Given the description of an element on the screen output the (x, y) to click on. 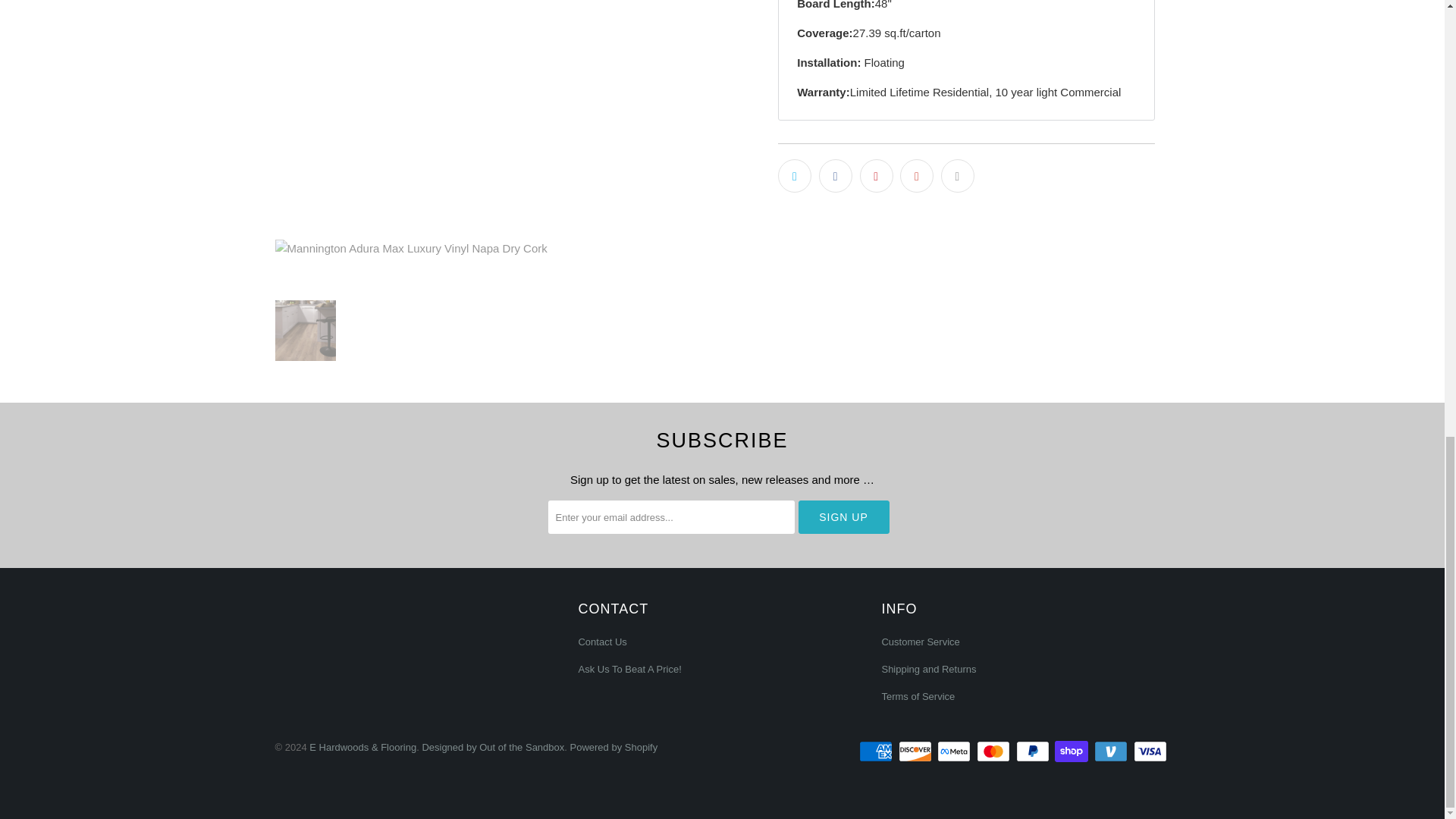
Share this on Facebook (834, 175)
Share this on Pinterest (876, 175)
Turbo Shopify Theme by Out of the Sandbox (493, 747)
Meta Pay (955, 751)
Shop Pay (1072, 751)
Sign Up (842, 516)
Venmo (1112, 751)
PayPal (1034, 751)
Email this to a friend (957, 175)
Discover (916, 751)
